Given the description of an element on the screen output the (x, y) to click on. 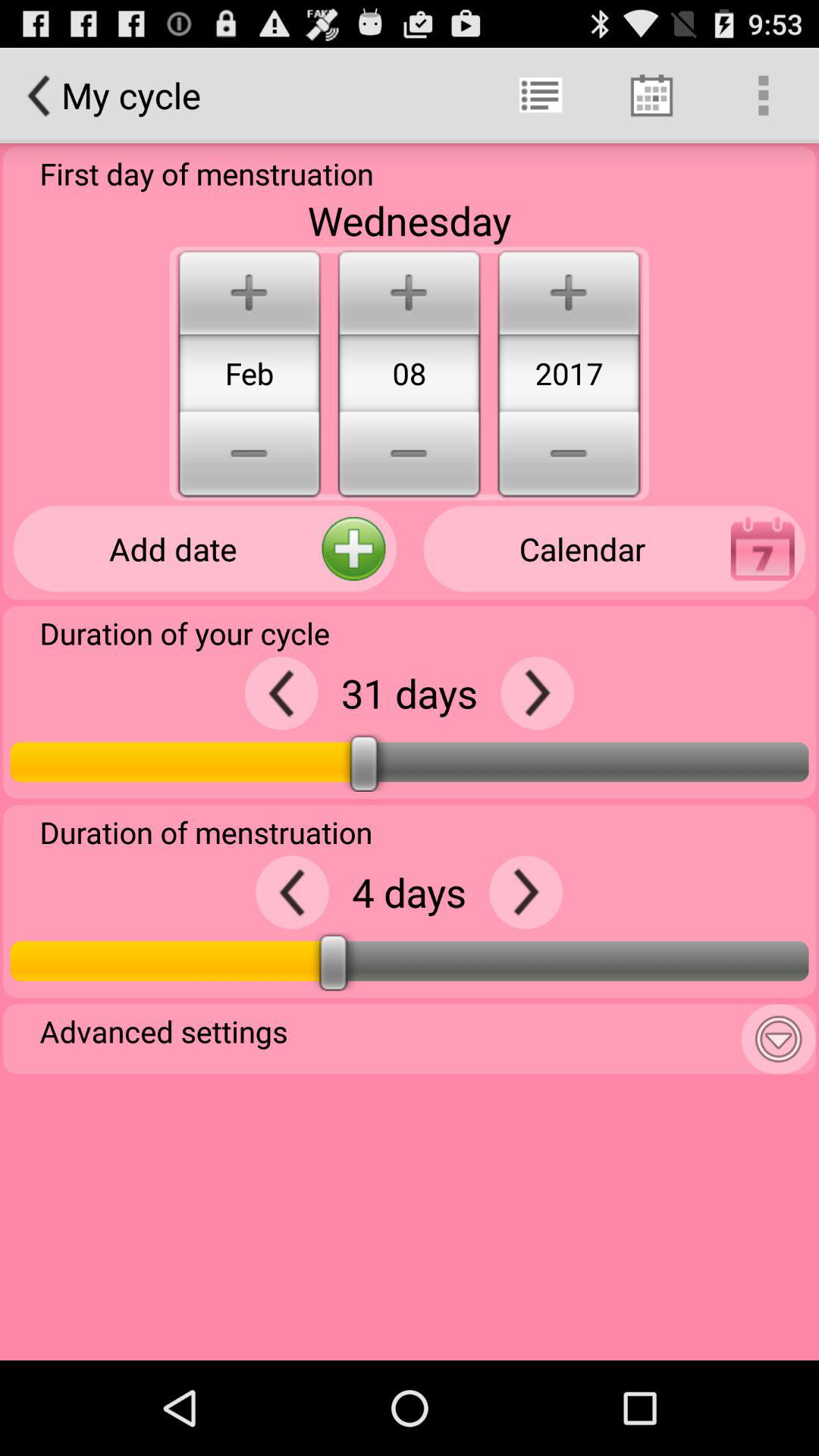
go back (281, 693)
